Given the description of an element on the screen output the (x, y) to click on. 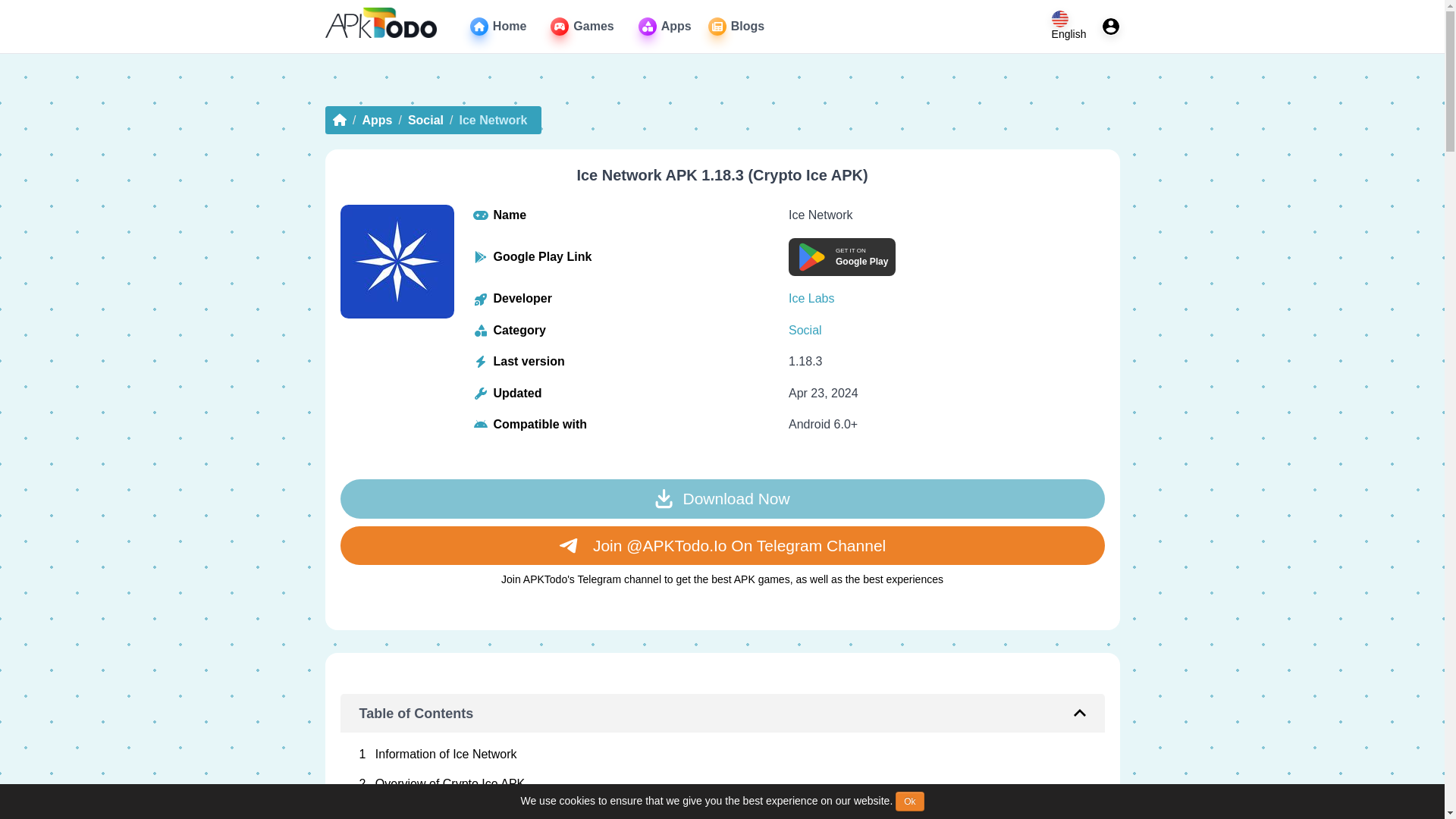
Download Now (721, 498)
English (1068, 26)
3 What's New in Crypto Ice Latest Version (722, 808)
Home (497, 26)
Social (805, 329)
Apps (376, 119)
Apps (665, 26)
2 Overview of Crypto Ice APK (722, 783)
Ice Labs (811, 297)
1 Information of Ice Network (722, 754)
Apps (665, 26)
Blogs (842, 257)
Games (735, 26)
Social (581, 26)
